Given the description of an element on the screen output the (x, y) to click on. 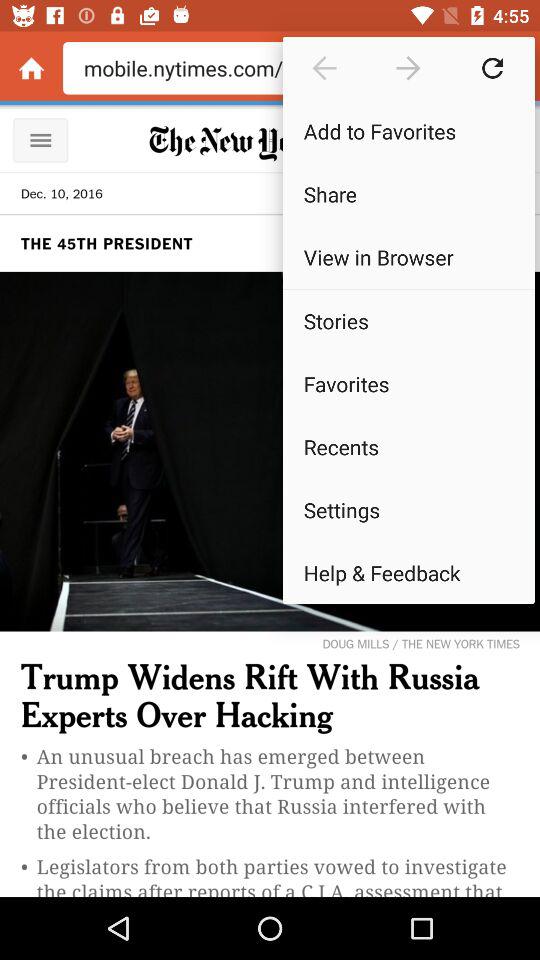
turn on icon below recents (408, 509)
